Given the description of an element on the screen output the (x, y) to click on. 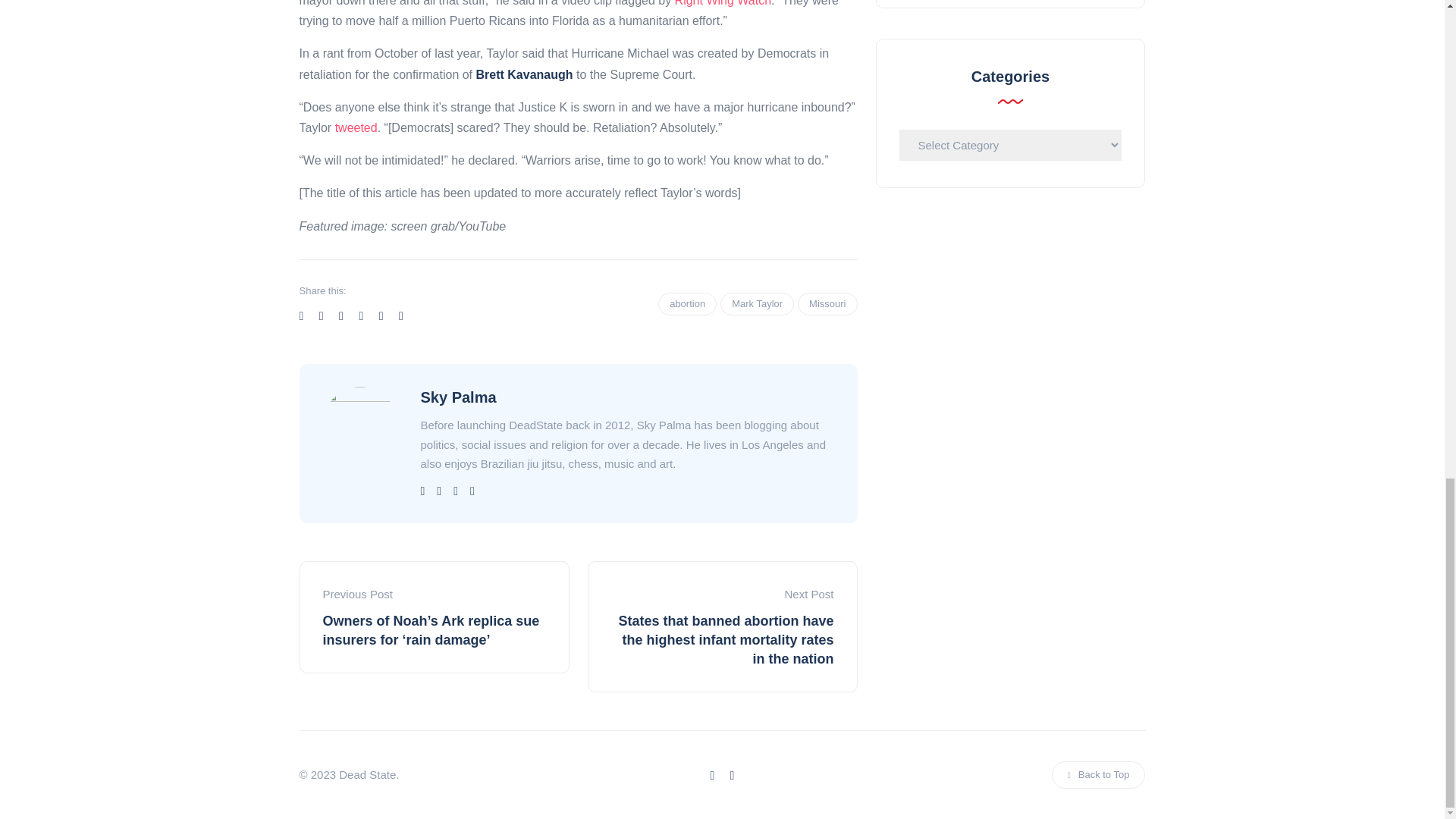
abortion (687, 303)
tweeted (355, 127)
Right Wing Watch (723, 3)
Missouri (827, 303)
Mark Taylor (756, 303)
Sky Palma (458, 397)
